Given the description of an element on the screen output the (x, y) to click on. 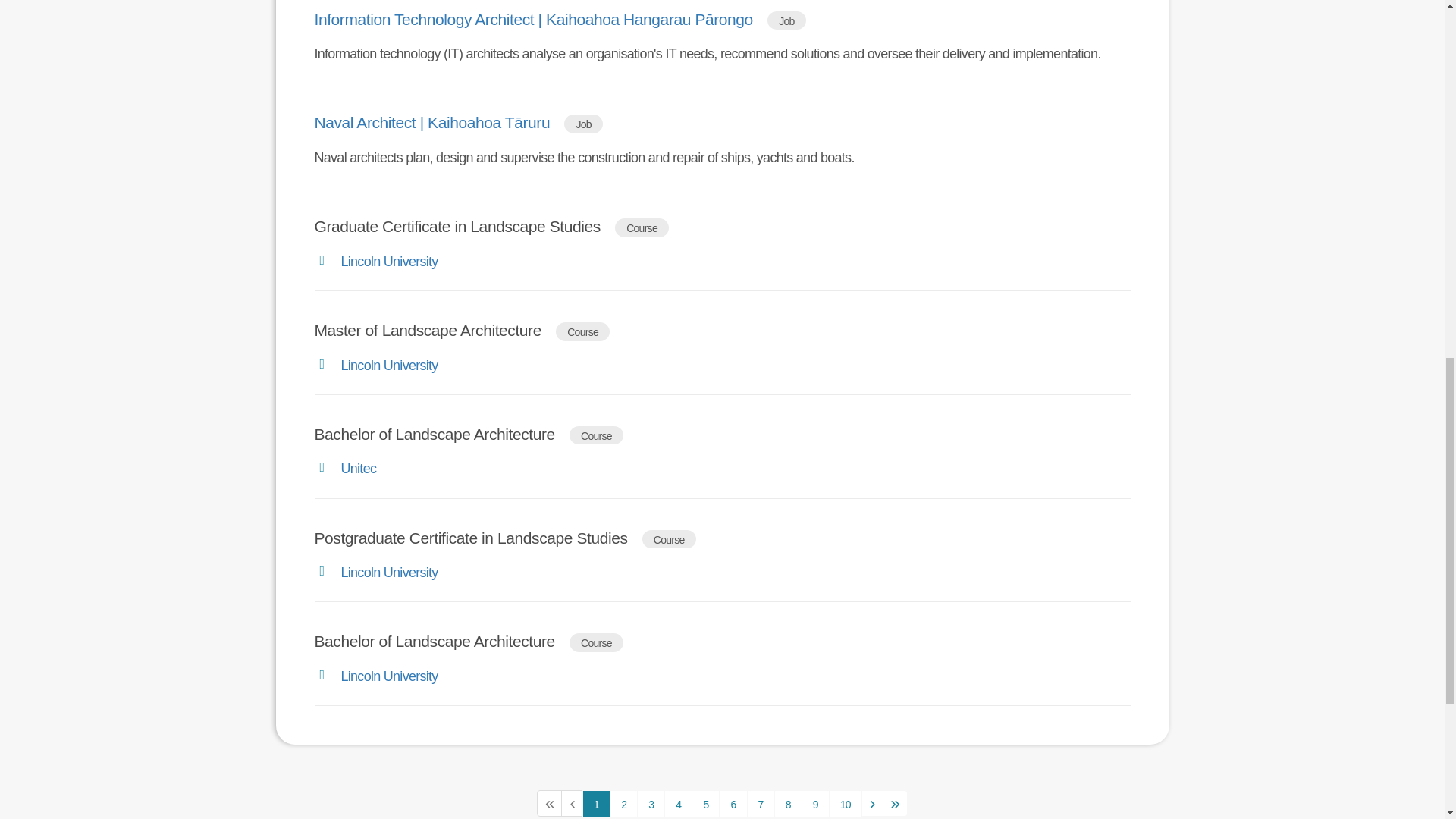
View page number 10 (844, 803)
View page number 5 (705, 803)
View page number 4 (678, 803)
View page number 9 (815, 803)
View page number 3 (651, 803)
View page number 7 (760, 803)
View page number 8 (788, 803)
View page number 6 (732, 803)
View page number 2 (623, 803)
View page number 1 (596, 803)
